Given the description of an element on the screen output the (x, y) to click on. 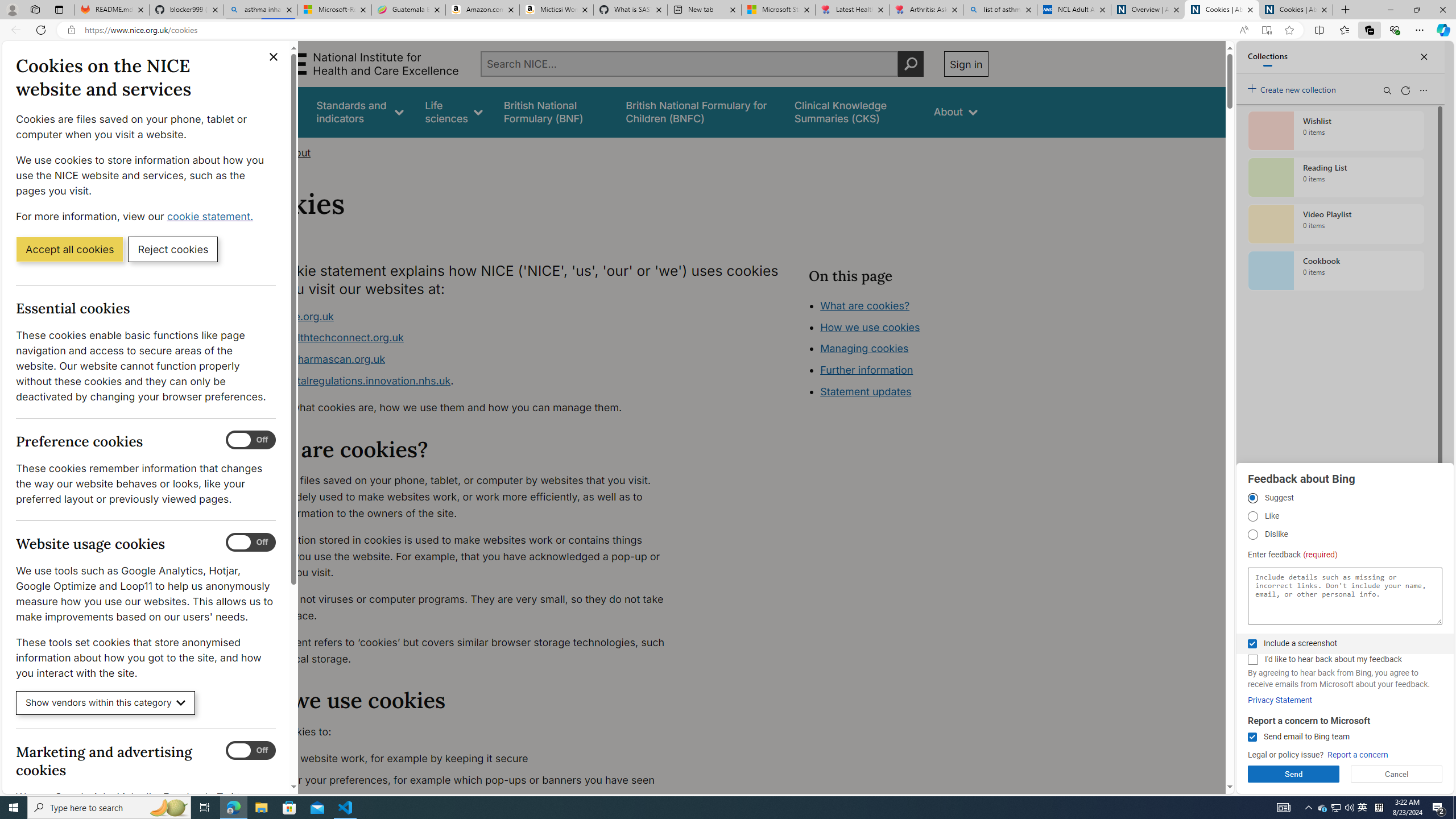
Cancel (1396, 773)
Perform search (909, 63)
Further information (865, 369)
Home> (258, 152)
